Given the description of an element on the screen output the (x, y) to click on. 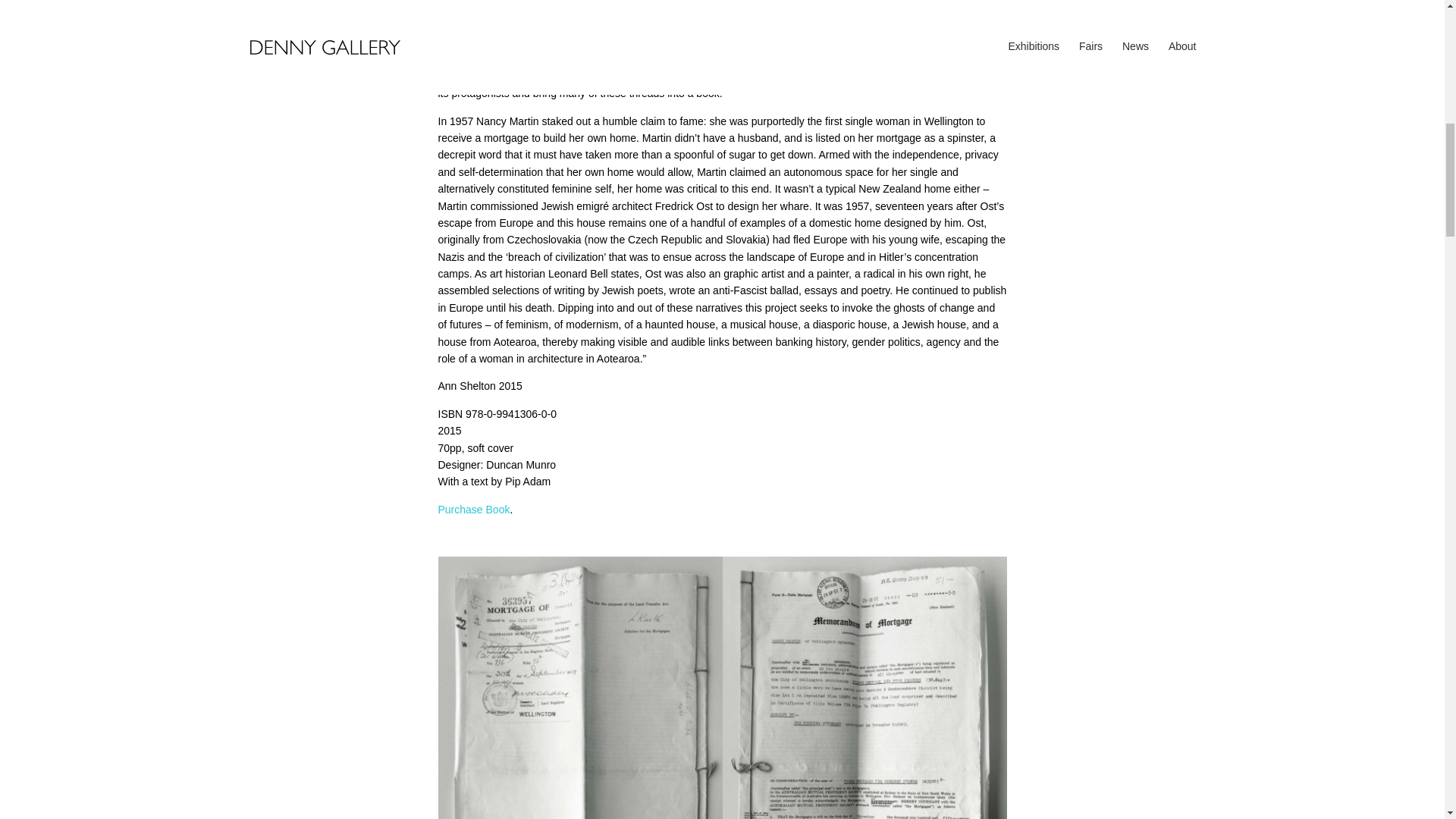
Purchase Book (474, 509)
I DISAGREE (1134, 355)
I AGREE (1033, 355)
Privacy Policy (311, 378)
